Given the description of an element on the screen output the (x, y) to click on. 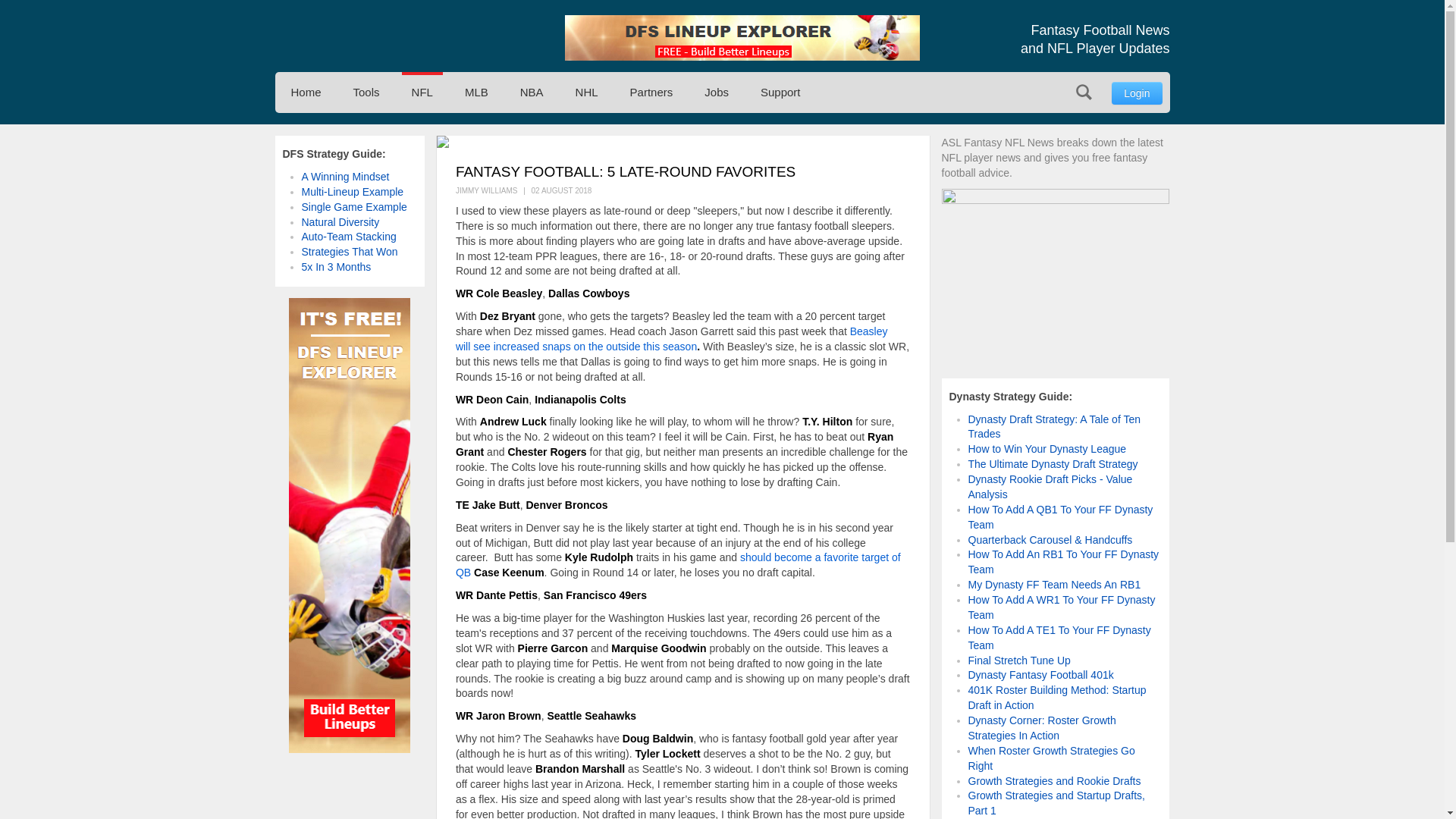
Auto-Team Stacking (348, 236)
My Dynasty FF Team Needs An RB1 (1054, 584)
Single Game Example (354, 206)
How to Win Your Dynasty League (1046, 449)
NFL (421, 92)
MLB (475, 92)
Strategies That Won (349, 251)
Multi-Lineup Example (352, 191)
Dynasty Draft Strategy: A Tale of Ten Trades (1054, 425)
A Winning Mindset (345, 176)
